Given the description of an element on the screen output the (x, y) to click on. 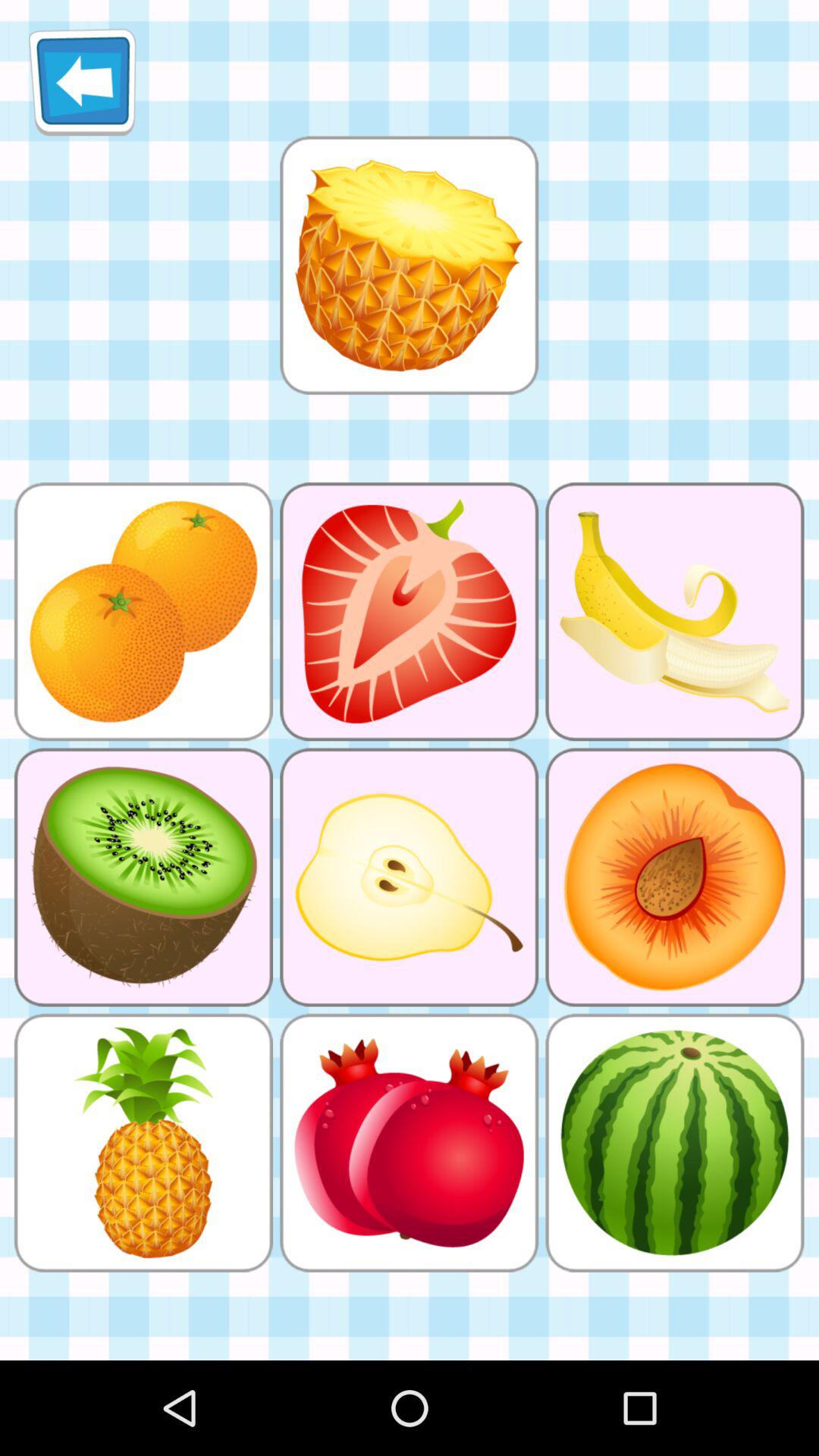
go back (82, 82)
